Given the description of an element on the screen output the (x, y) to click on. 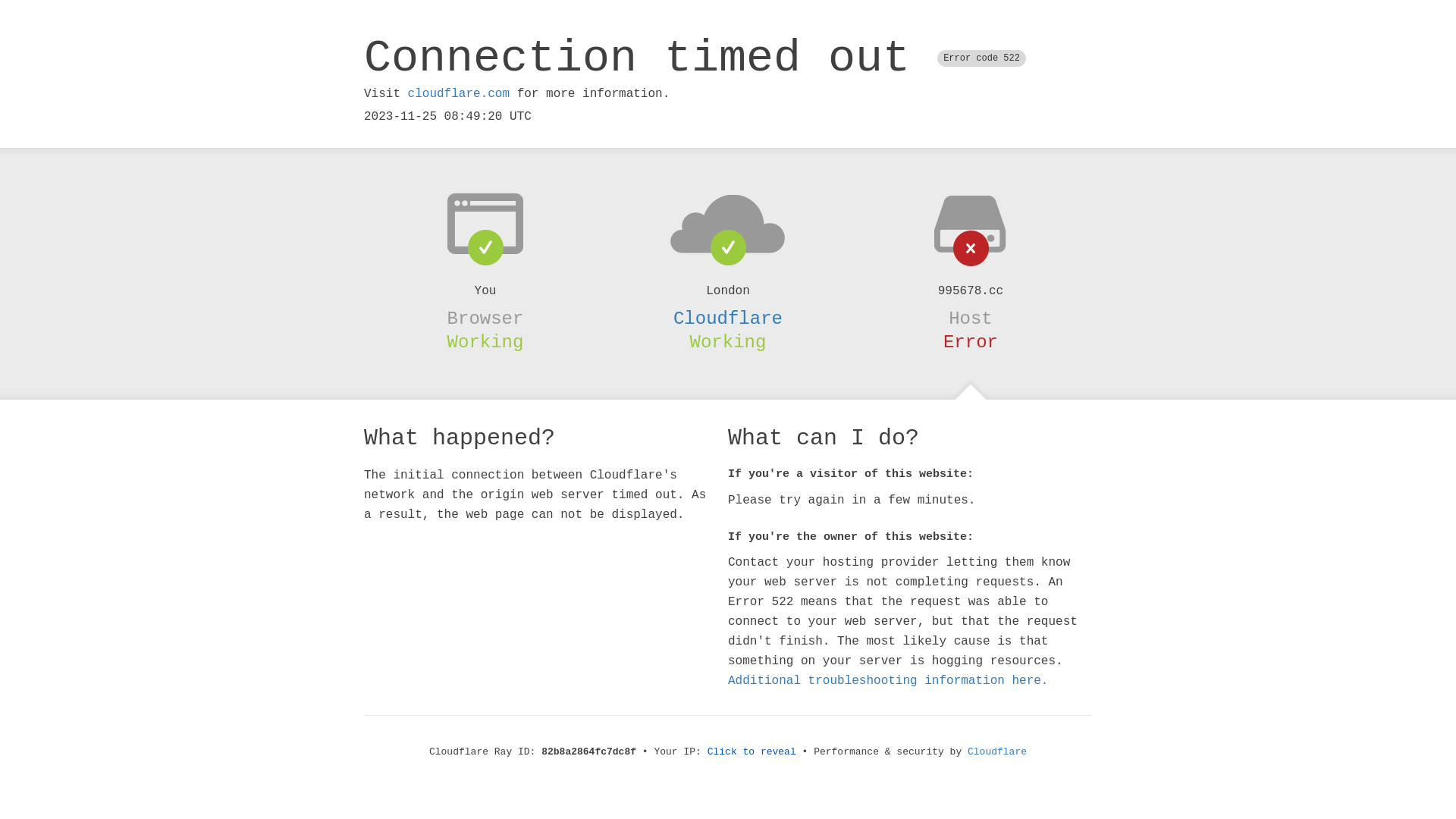
Cloudflare Element type: text (727, 318)
Additional troubleshooting information here. Element type: text (888, 680)
cloudflare.com Element type: text (458, 93)
Cloudflare Element type: text (996, 751)
Click to reveal Element type: text (751, 751)
